Given the description of an element on the screen output the (x, y) to click on. 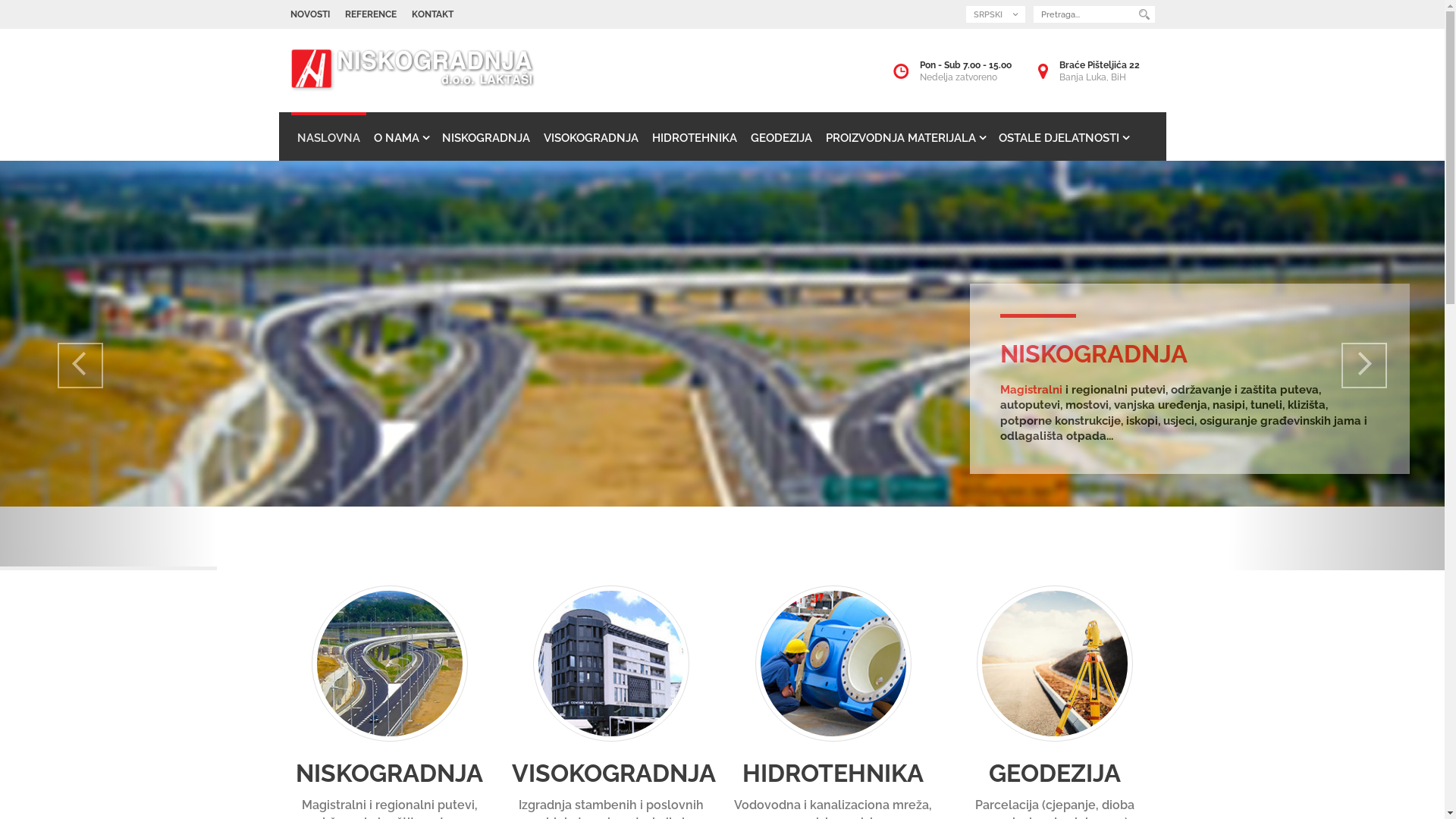
VISOKOGRADNJA Element type: text (611, 772)
HIDROTEHNIKA Element type: text (694, 136)
NISKOGRADNJA Element type: text (485, 136)
O NAMA Element type: text (400, 136)
NOVOSTI Element type: text (309, 14)
REFERENCE Element type: text (369, 14)
GEODEZIJA Element type: text (781, 136)
GEODEZIJA Element type: text (1054, 772)
KONTAKT Element type: text (431, 14)
HIDROTEHNIKA Element type: text (833, 772)
NISKOGRADNJA Element type: text (389, 772)
NASLOVNA Element type: text (328, 136)
OSTALE DJELATNOSTI Element type: text (1062, 136)
PROIZVODNJA MATERIJALA Element type: text (904, 136)
VISOKOGRADNJA Element type: text (589, 136)
